Given the description of an element on the screen output the (x, y) to click on. 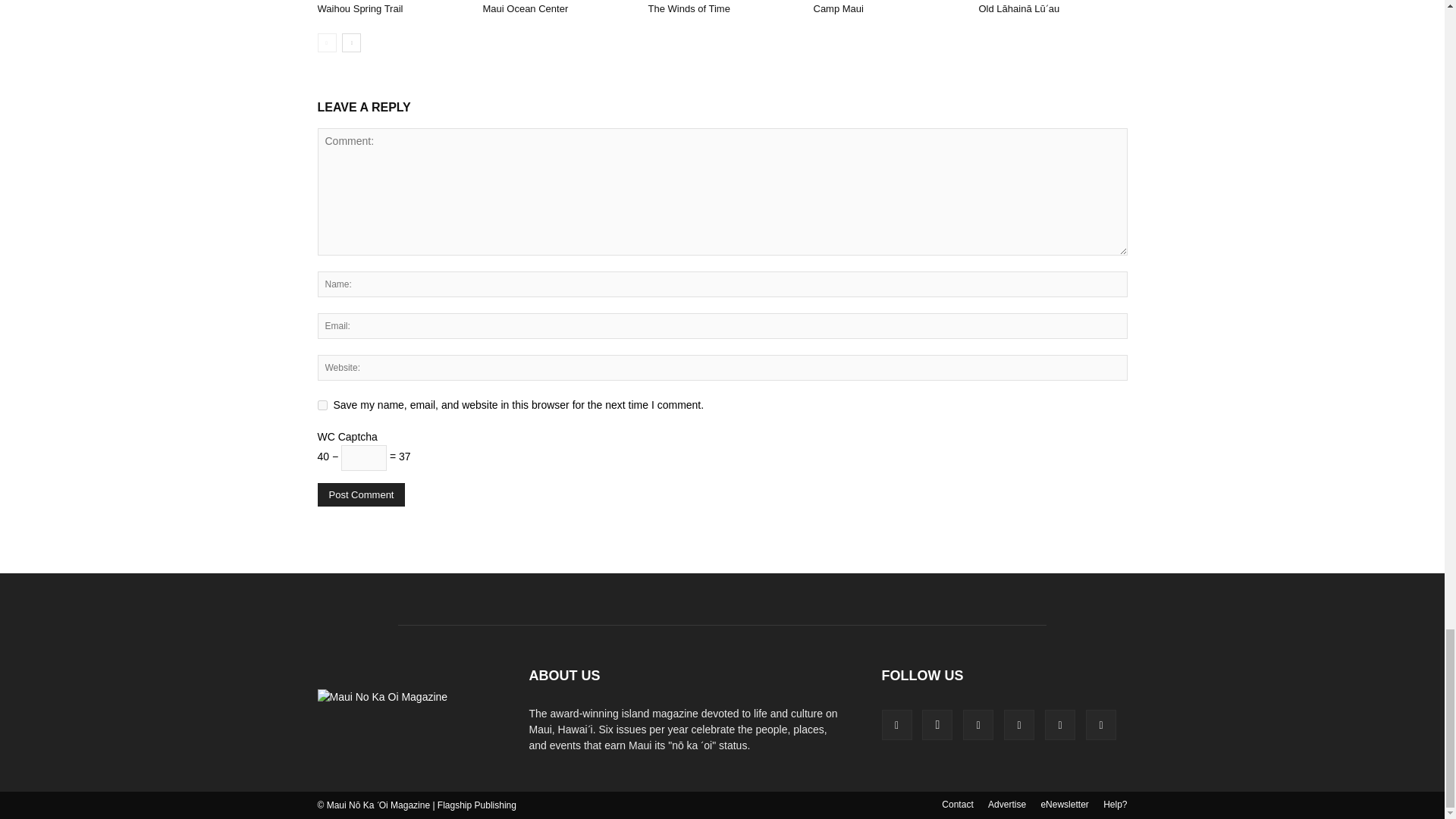
yes (321, 405)
Post Comment (360, 494)
